Given the description of an element on the screen output the (x, y) to click on. 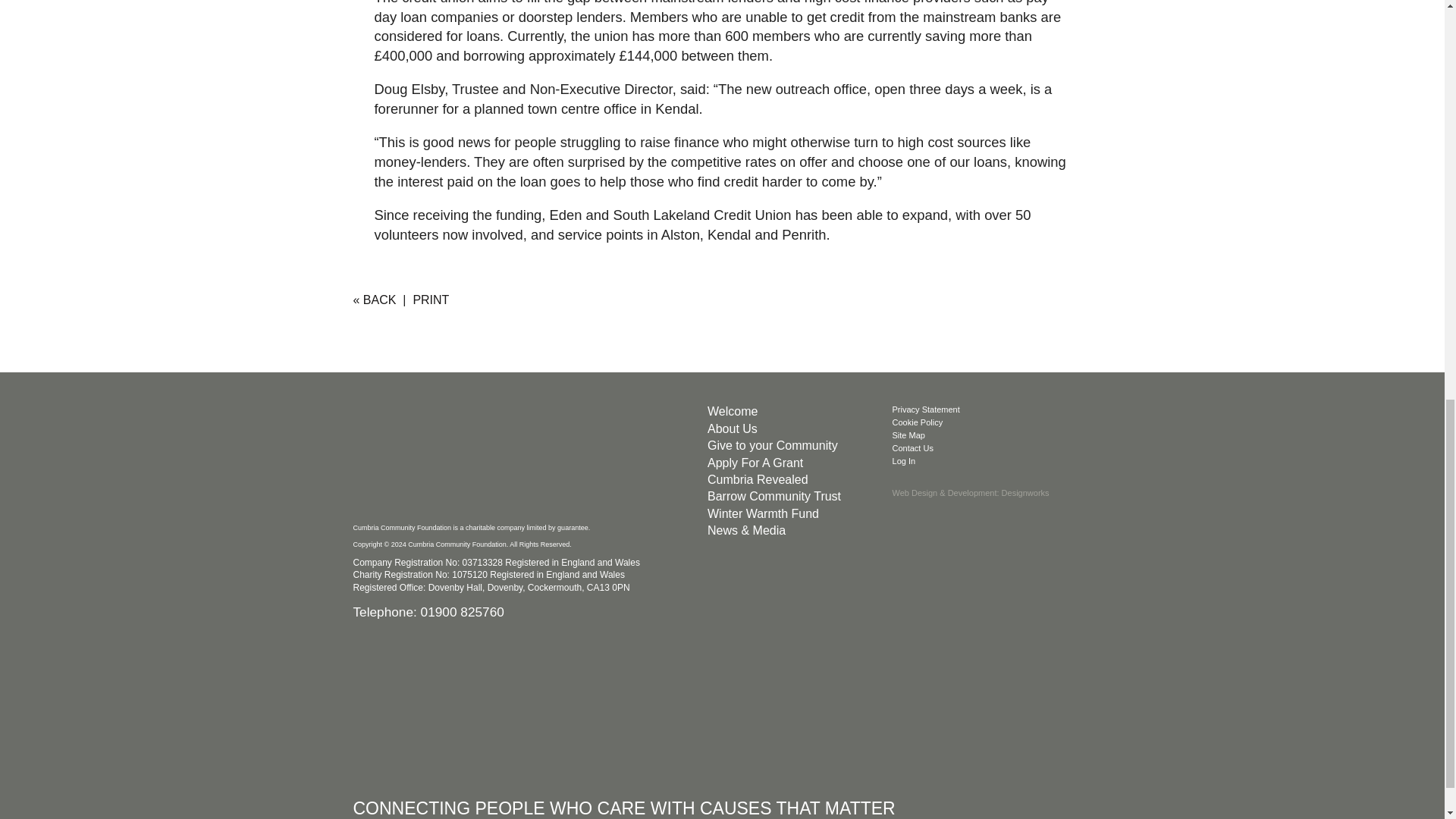
FR-Fundraising-Badge-Mono-HR (720, 704)
ccf-logo (466, 459)
UK Community Foundations Member (466, 704)
